Given the description of an element on the screen output the (x, y) to click on. 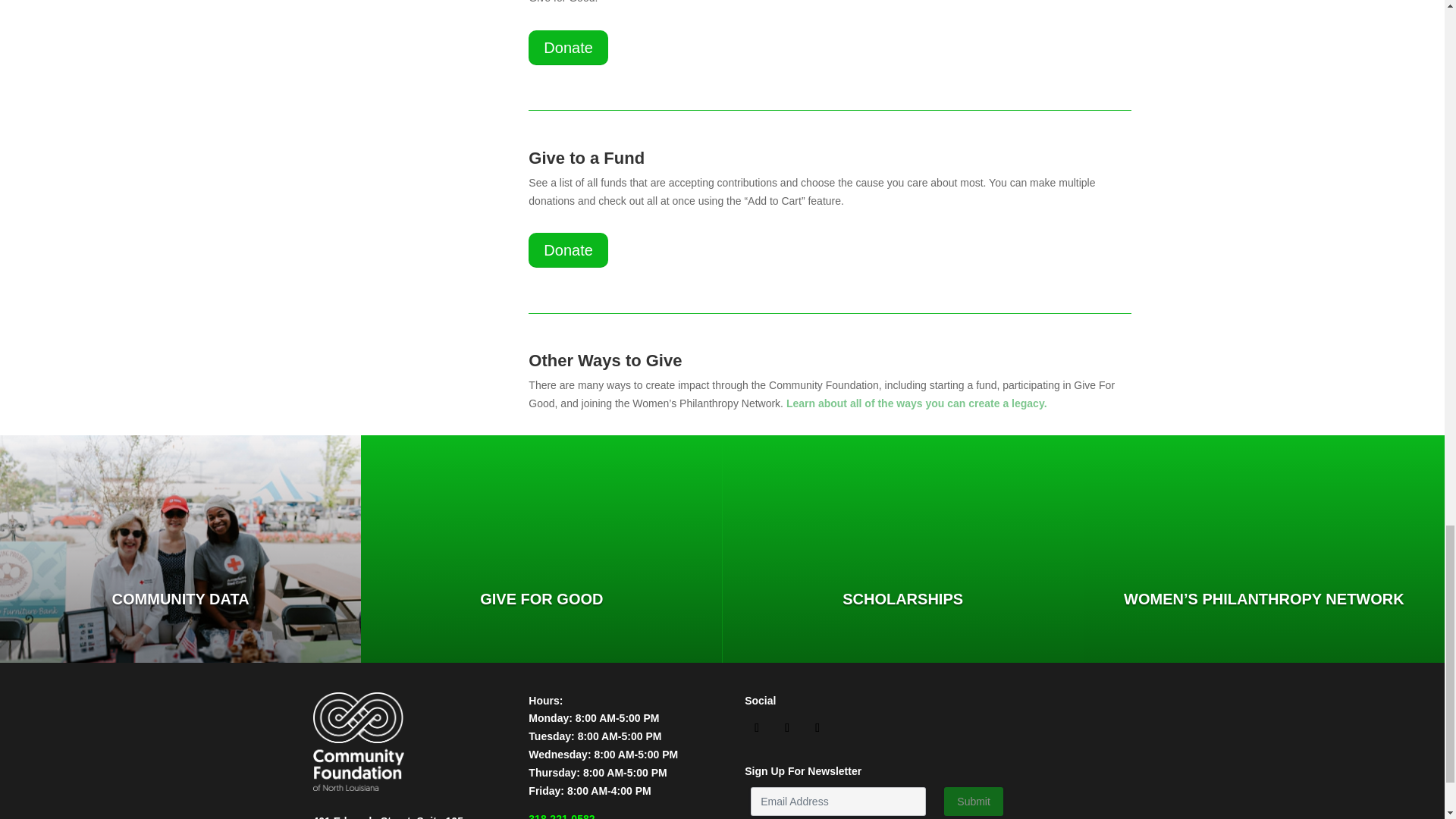
Follow on Instagram (786, 727)
Submit (973, 801)
Follow on LinkedIn (817, 727)
Follow on Facebook (756, 727)
